Given the description of an element on the screen output the (x, y) to click on. 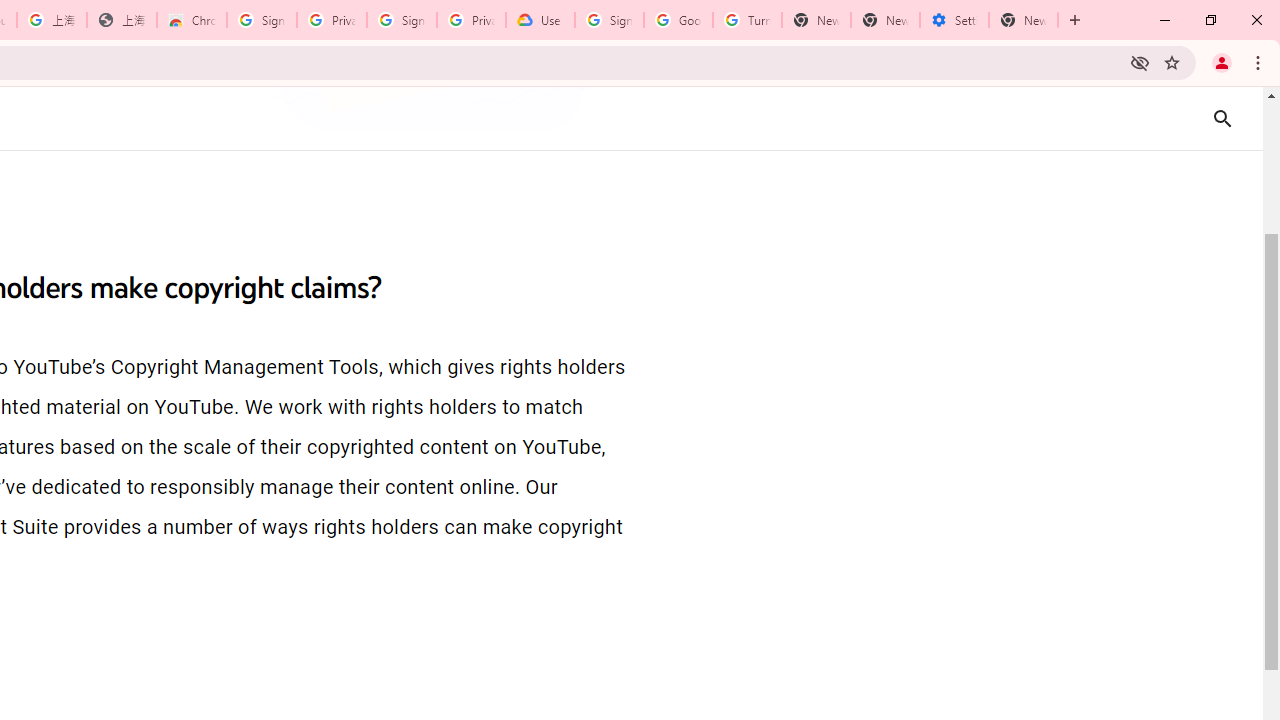
Turn cookies on or off - Computer - Google Account Help (747, 20)
New Tab (1023, 20)
Google Account Help (677, 20)
Settings - System (954, 20)
Chrome Web Store - Color themes by Chrome (191, 20)
Sign in - Google Accounts (261, 20)
